Given the description of an element on the screen output the (x, y) to click on. 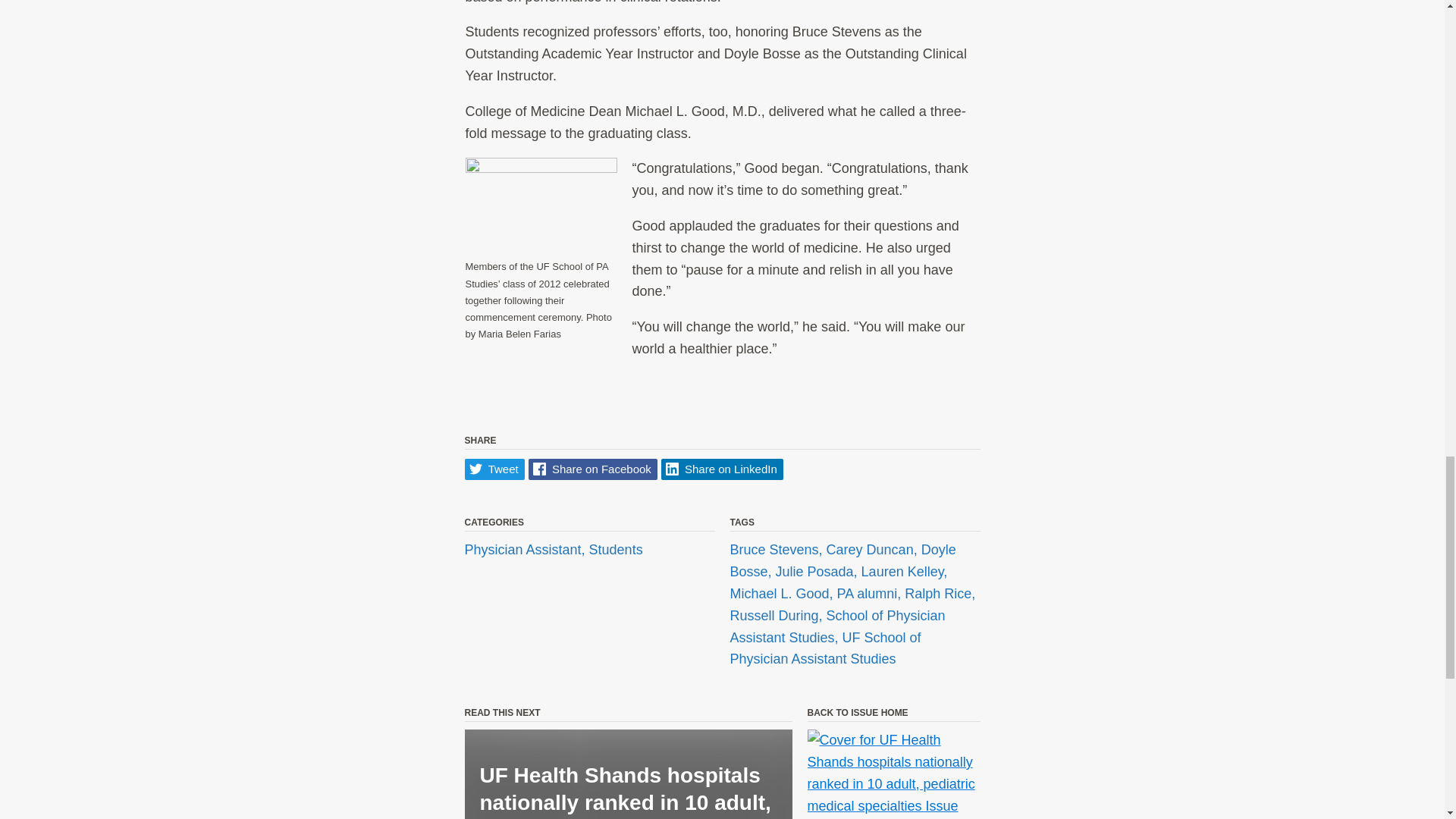
Physician Assistant, (526, 549)
Share on Facebook (593, 469)
Tweet (494, 469)
UF School of Physician Assistant Studies (824, 648)
Russell During, (777, 615)
Michael L. Good, (782, 593)
Share on LinkedIn (722, 469)
PA alumni, (871, 593)
Lauren Kelley, (904, 571)
Ralph Rice, (939, 593)
School of Physician Assistant Studies, (836, 626)
Carey Duncan, (874, 549)
Students (616, 549)
Doyle Bosse, (842, 560)
